Given the description of an element on the screen output the (x, y) to click on. 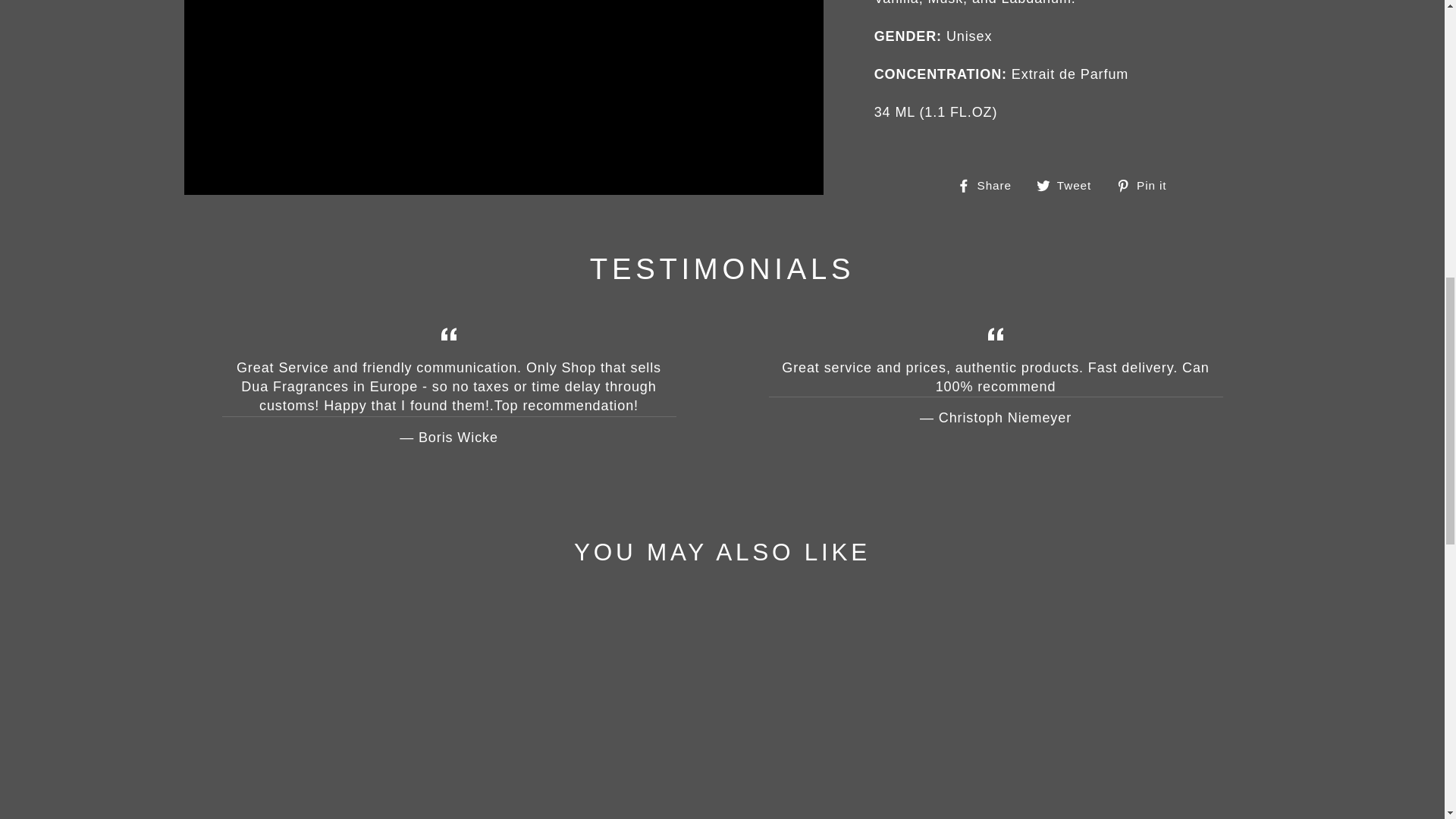
Share on Facebook (989, 185)
Tweet on Twitter (1069, 185)
Pin on Pinterest (1146, 185)
